Given the description of an element on the screen output the (x, y) to click on. 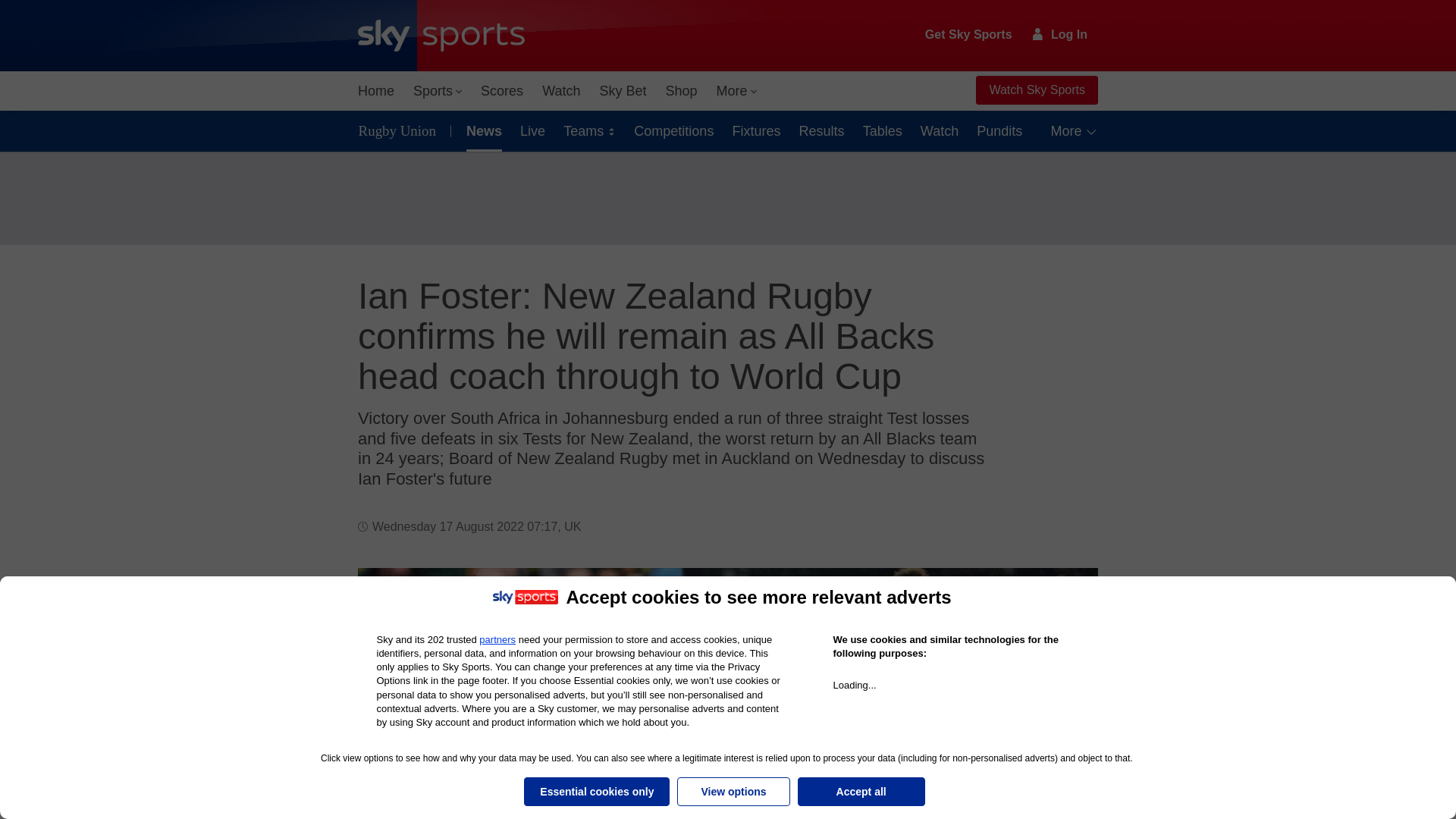
Log In (1060, 33)
Watch (561, 91)
Watch Sky Sports (1036, 90)
Scores (502, 91)
News (481, 130)
Home (375, 91)
Rugby Union (400, 130)
Shop (681, 91)
Sports (437, 91)
Sky Bet (622, 91)
Get Sky Sports (968, 34)
More (736, 91)
